Given the description of an element on the screen output the (x, y) to click on. 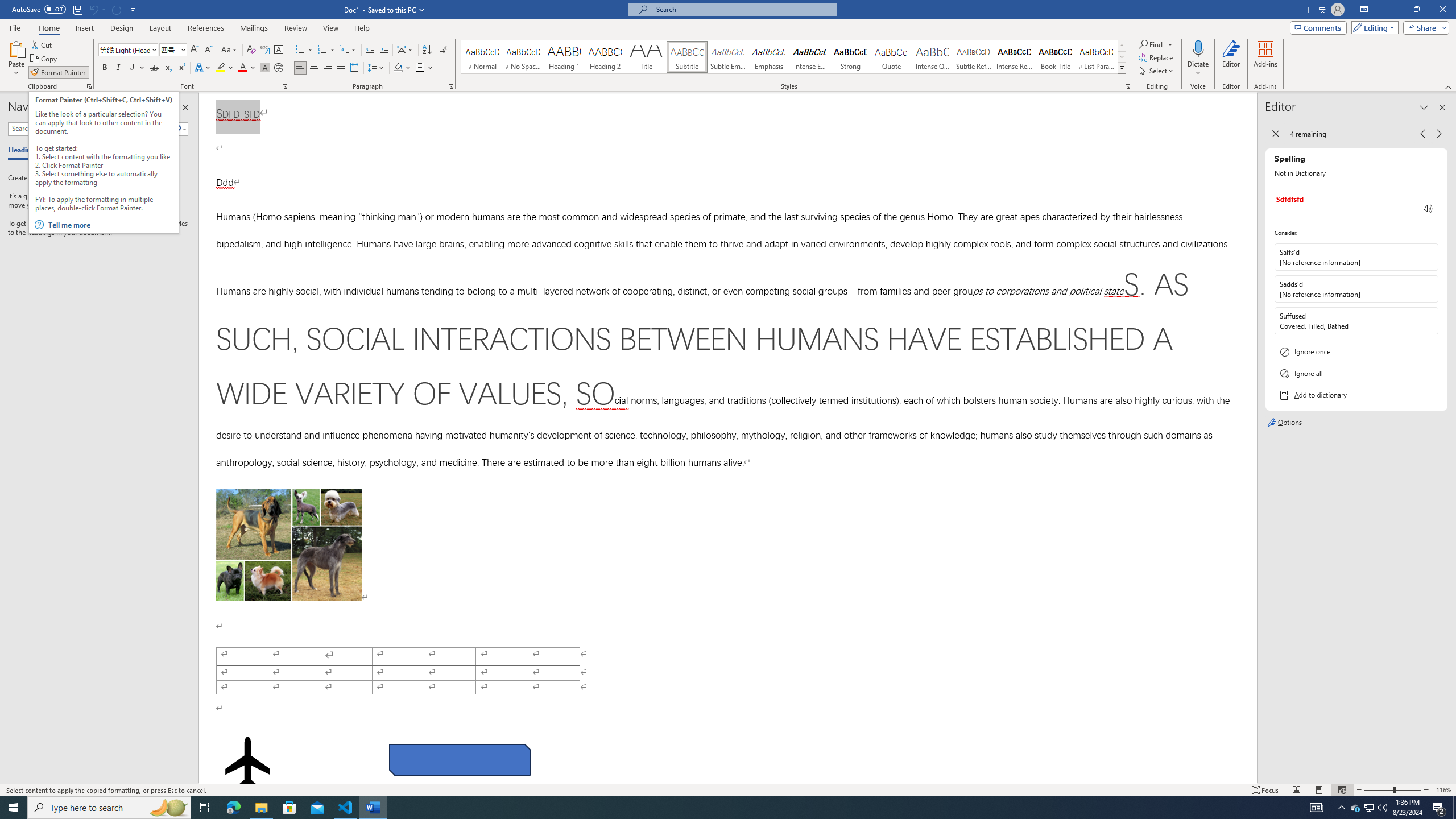
Strong (849, 56)
Heading 2 (605, 56)
Share (1423, 27)
Cut (42, 44)
File Tab (15, 27)
Search document (89, 128)
Pages (59, 150)
Dictate (1197, 48)
Character Border (278, 49)
Previous Issue, 4 remaining (1422, 133)
Rectangle: Diagonal Corners Snipped 2 (458, 759)
More options for Suffused (1428, 320)
Borders (419, 67)
Microsoft search (742, 9)
Mailings (253, 28)
